Given the description of an element on the screen output the (x, y) to click on. 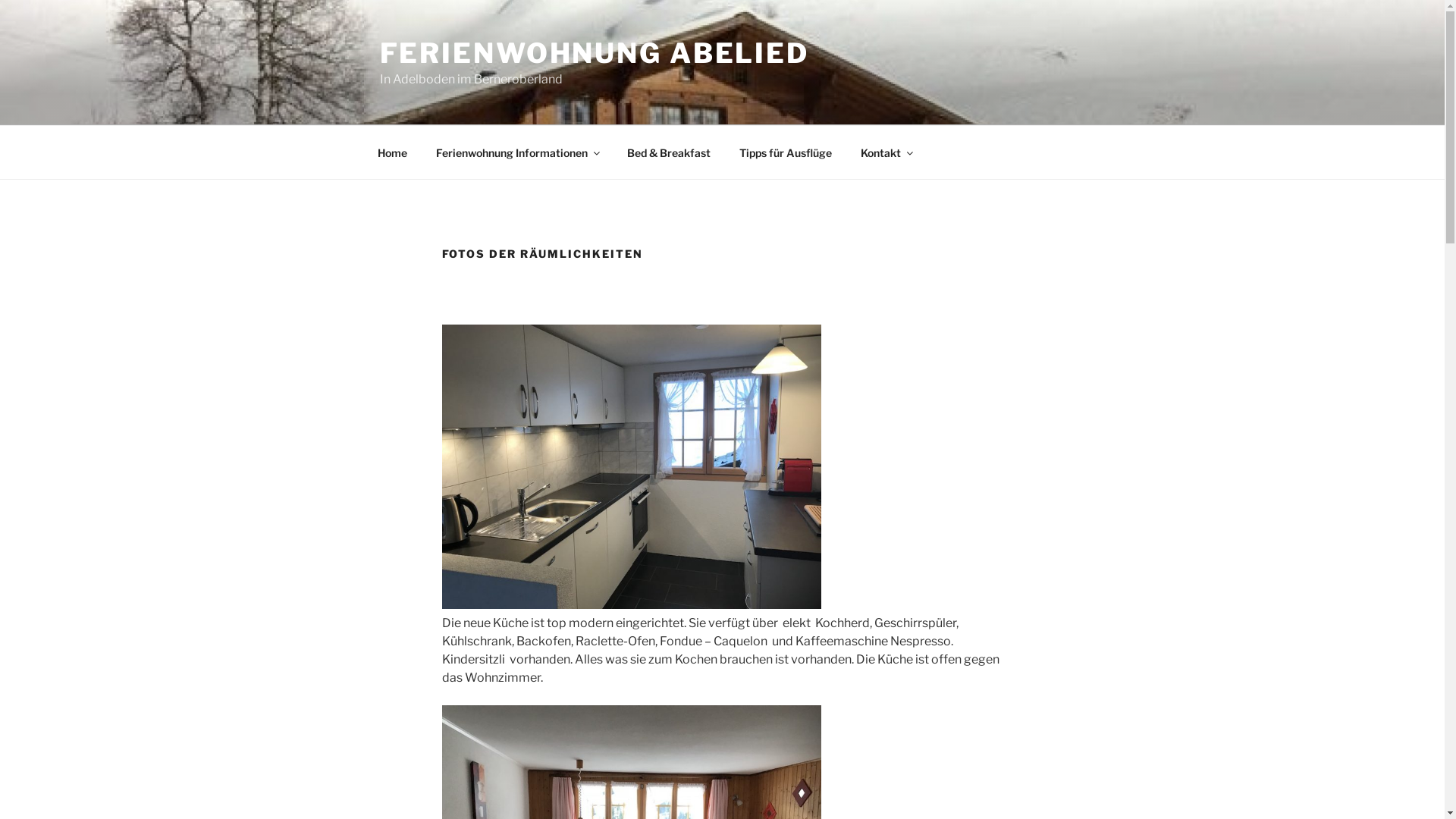
Bed & Breakfast Element type: text (669, 151)
FERIENWOHNUNG ABELIED Element type: text (593, 52)
Home Element type: text (392, 151)
Zum Inhalt springen Element type: text (0, 0)
Ferienwohnung Informationen Element type: text (517, 151)
Kontakt Element type: text (886, 151)
